Given the description of an element on the screen output the (x, y) to click on. 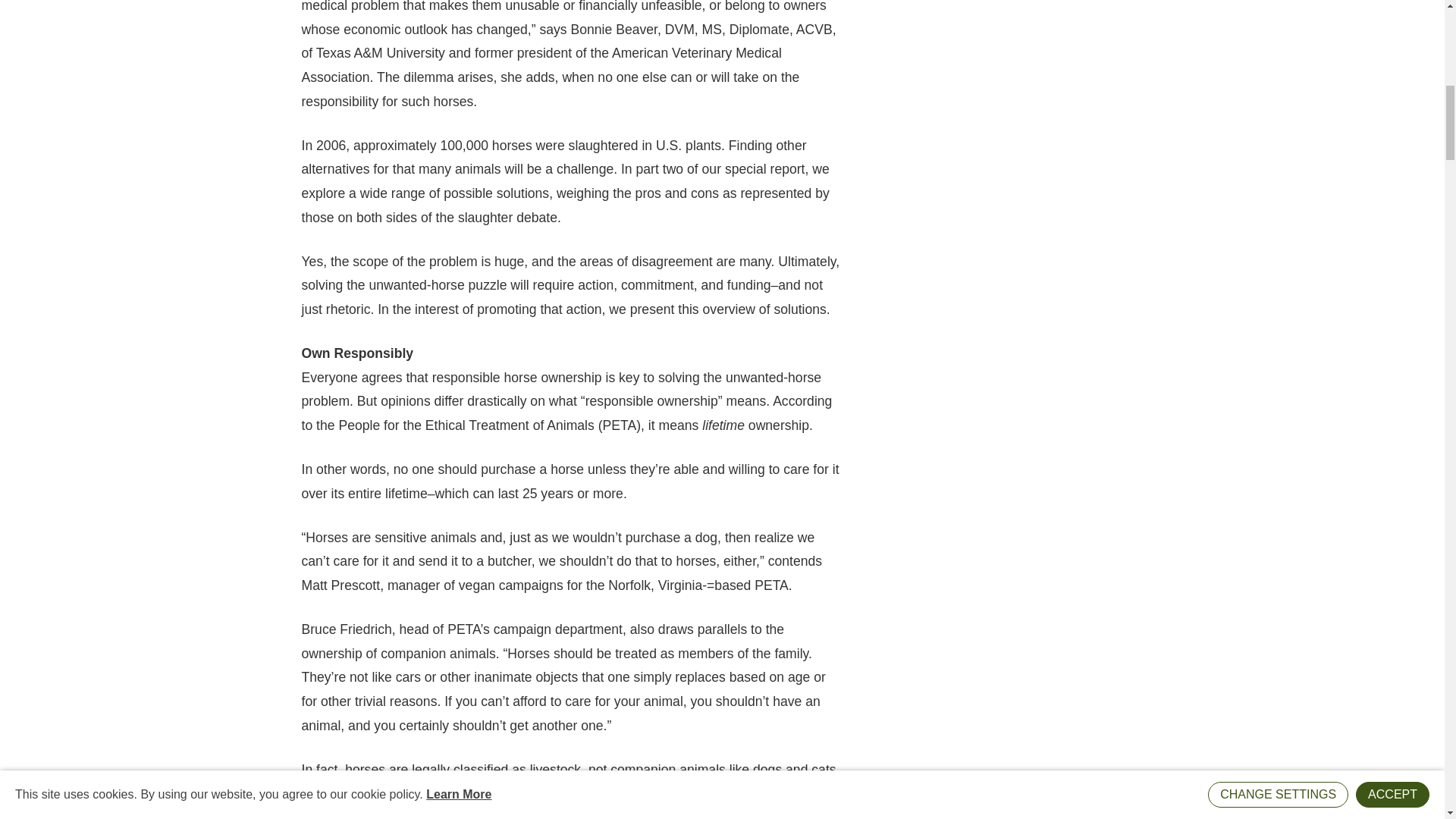
3rd party ad content (976, 106)
